Given the description of an element on the screen output the (x, y) to click on. 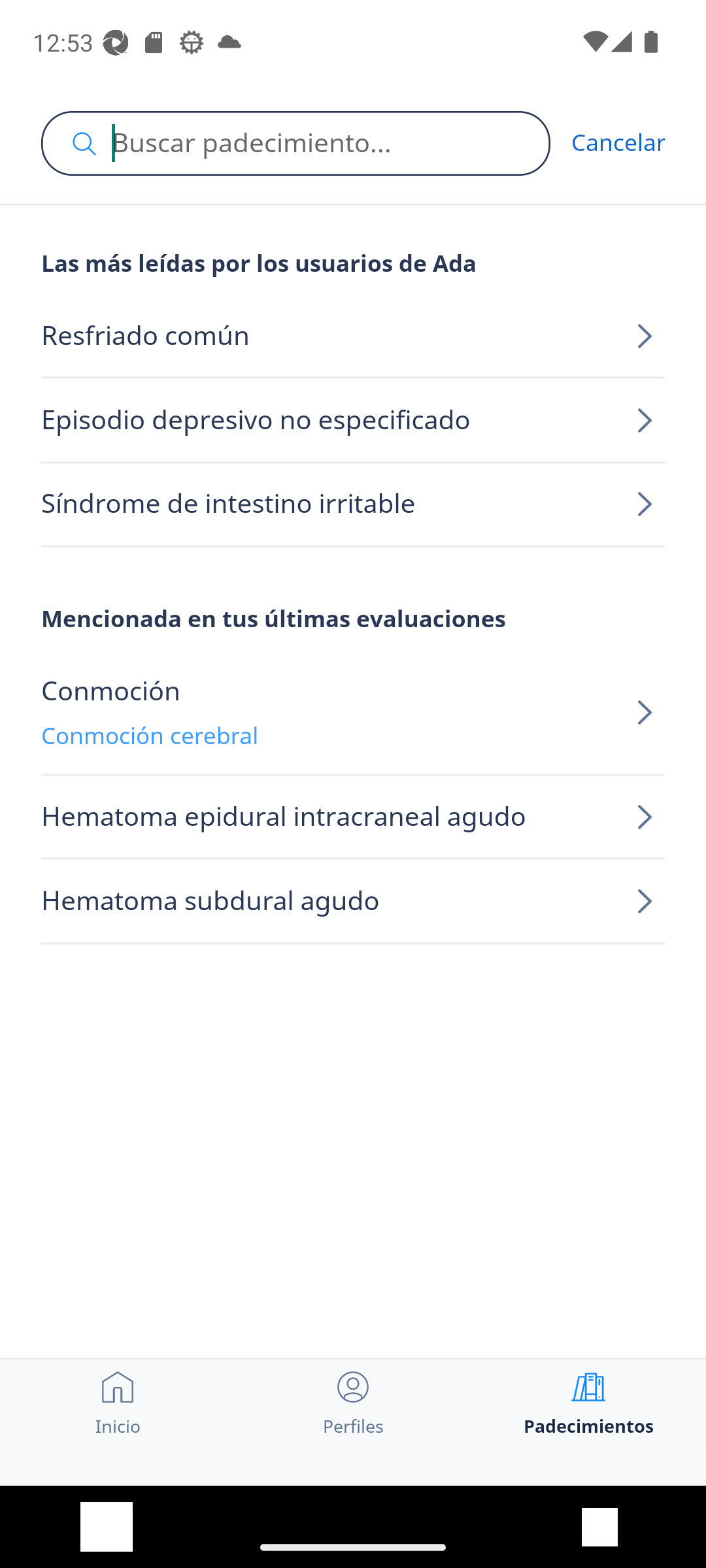
Buscar padecimiento... (295, 143)
Cancelar (618, 142)
Resfriado común (352, 335)
Episodio depresivo no especificado (352, 420)
Síndrome de intestino irritable (352, 504)
Conmoción Conmoción cerebral (352, 713)
Hematoma epidural intracraneal agudo (352, 817)
Hematoma subdural agudo (352, 901)
Inicio (117, 1401)
Perfiles (352, 1401)
Padecimientos (588, 1401)
